Given the description of an element on the screen output the (x, y) to click on. 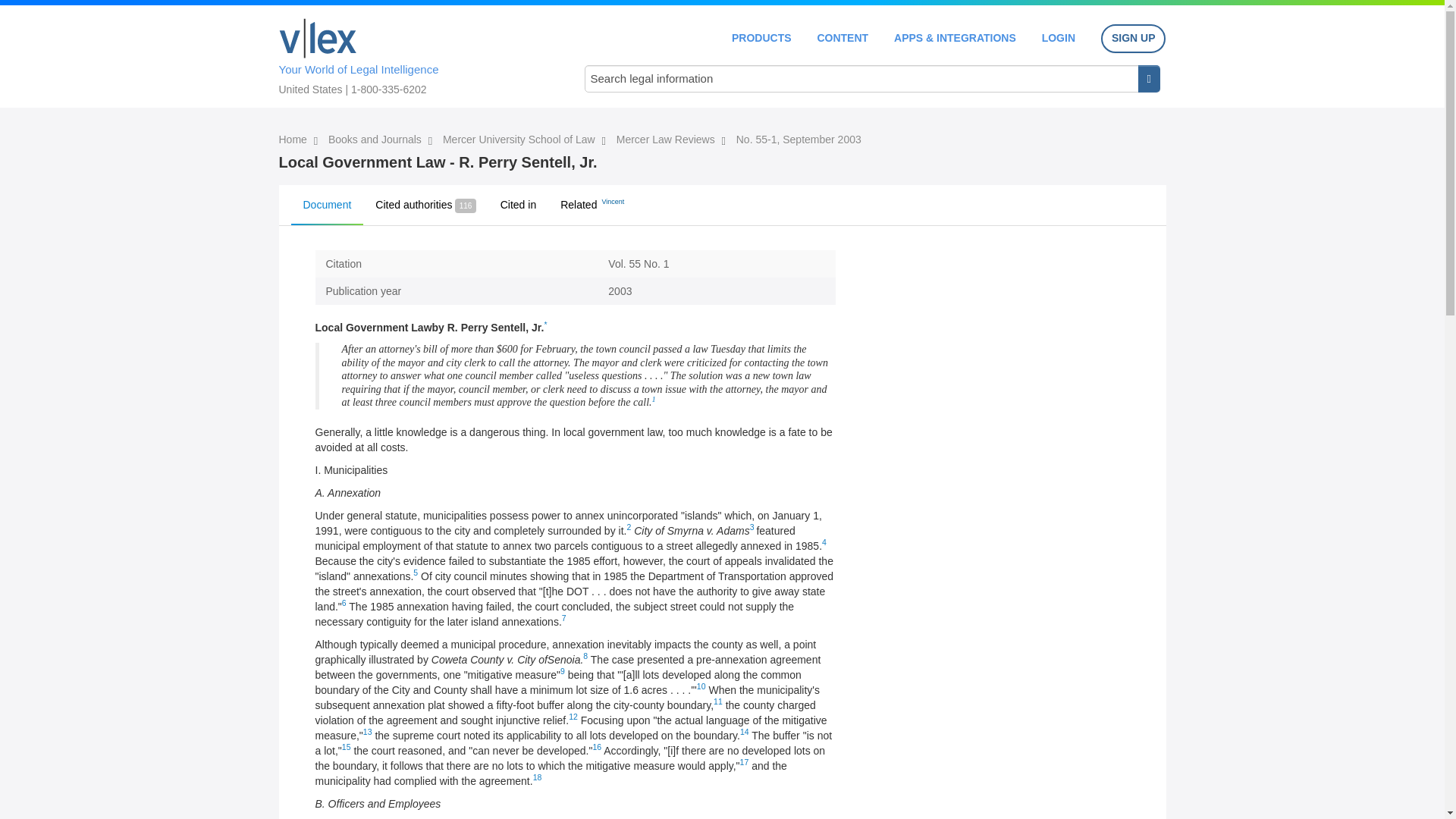
CONTENT (841, 37)
Home (294, 139)
Mercer University School of Law (520, 139)
Mercer Law Reviews (666, 139)
Home (317, 38)
Your World of Legal Intelligence (416, 53)
PRODUCTS (762, 37)
Books and Journals (377, 139)
SIGN UP (1133, 38)
LOGIN (1058, 37)
